Given the description of an element on the screen output the (x, y) to click on. 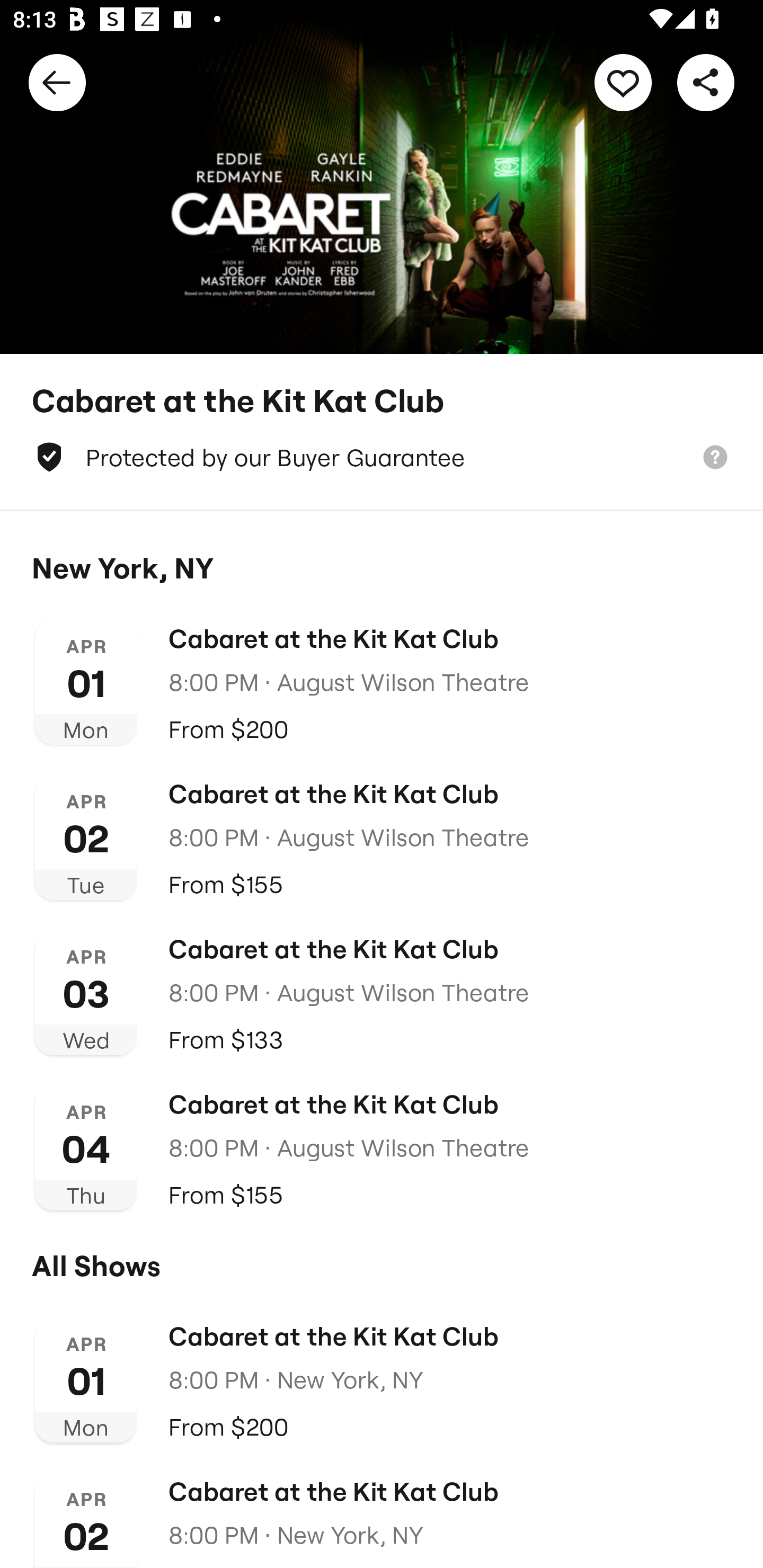
Back (57, 81)
Track this performer (623, 81)
Share this performer (705, 81)
Protected by our Buyer Guarantee Learn more (381, 456)
